Given the description of an element on the screen output the (x, y) to click on. 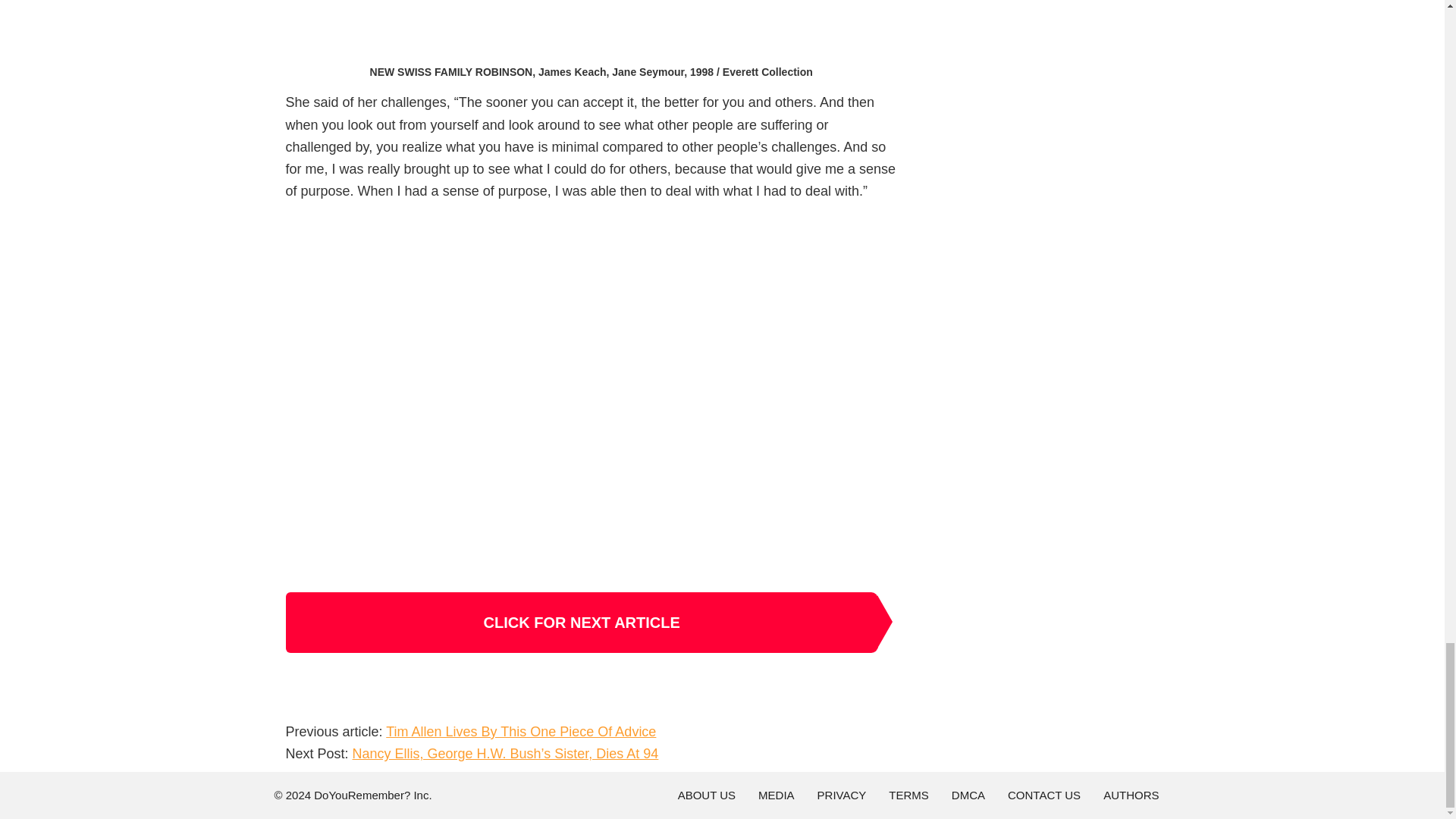
CLICK FOR NEXT ARTICLE (581, 622)
ABOUT US (706, 795)
Tim Allen Lives By This One Piece Of Advice (520, 731)
